Given the description of an element on the screen output the (x, y) to click on. 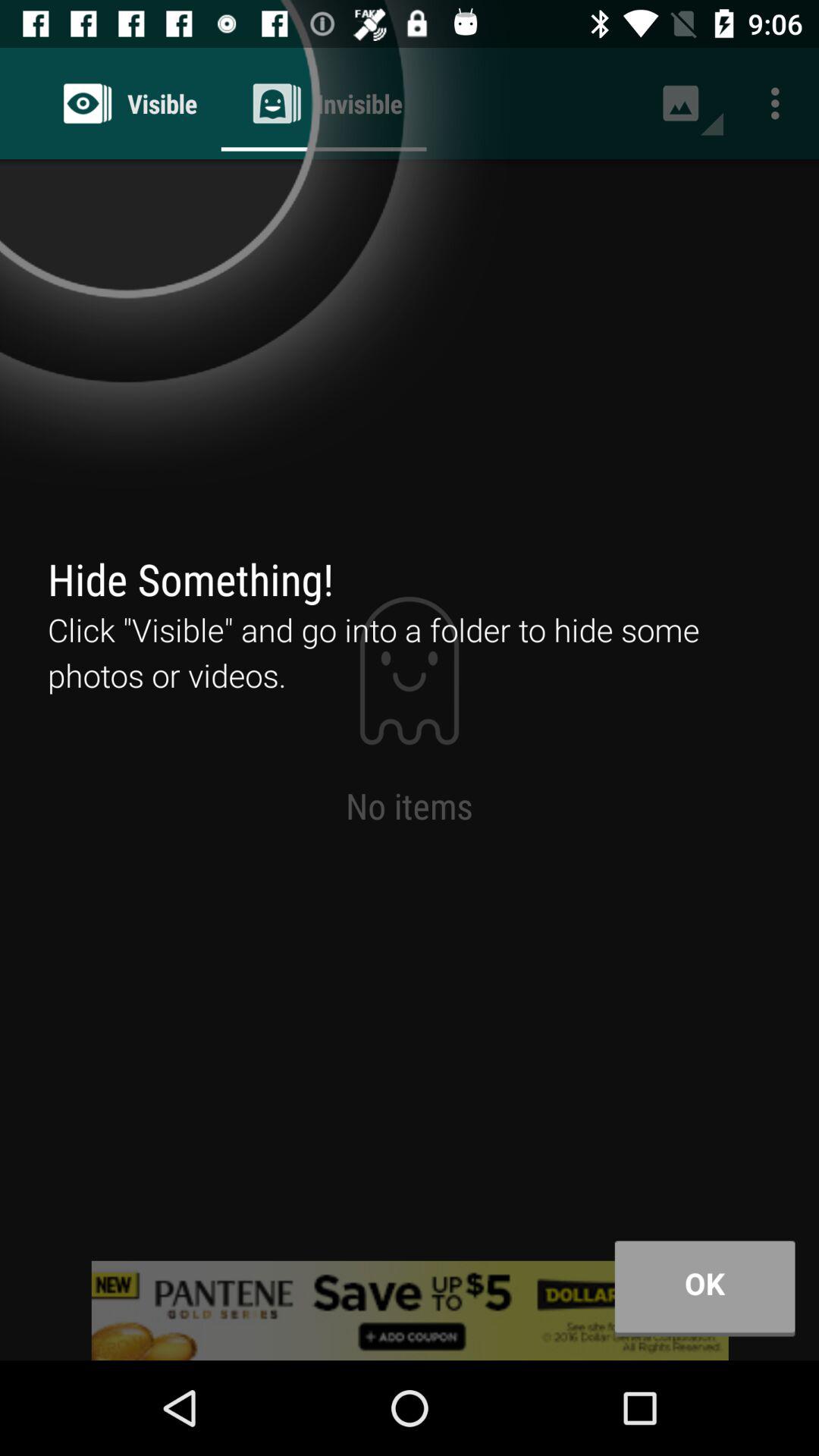
search about add (409, 1310)
